Given the description of an element on the screen output the (x, y) to click on. 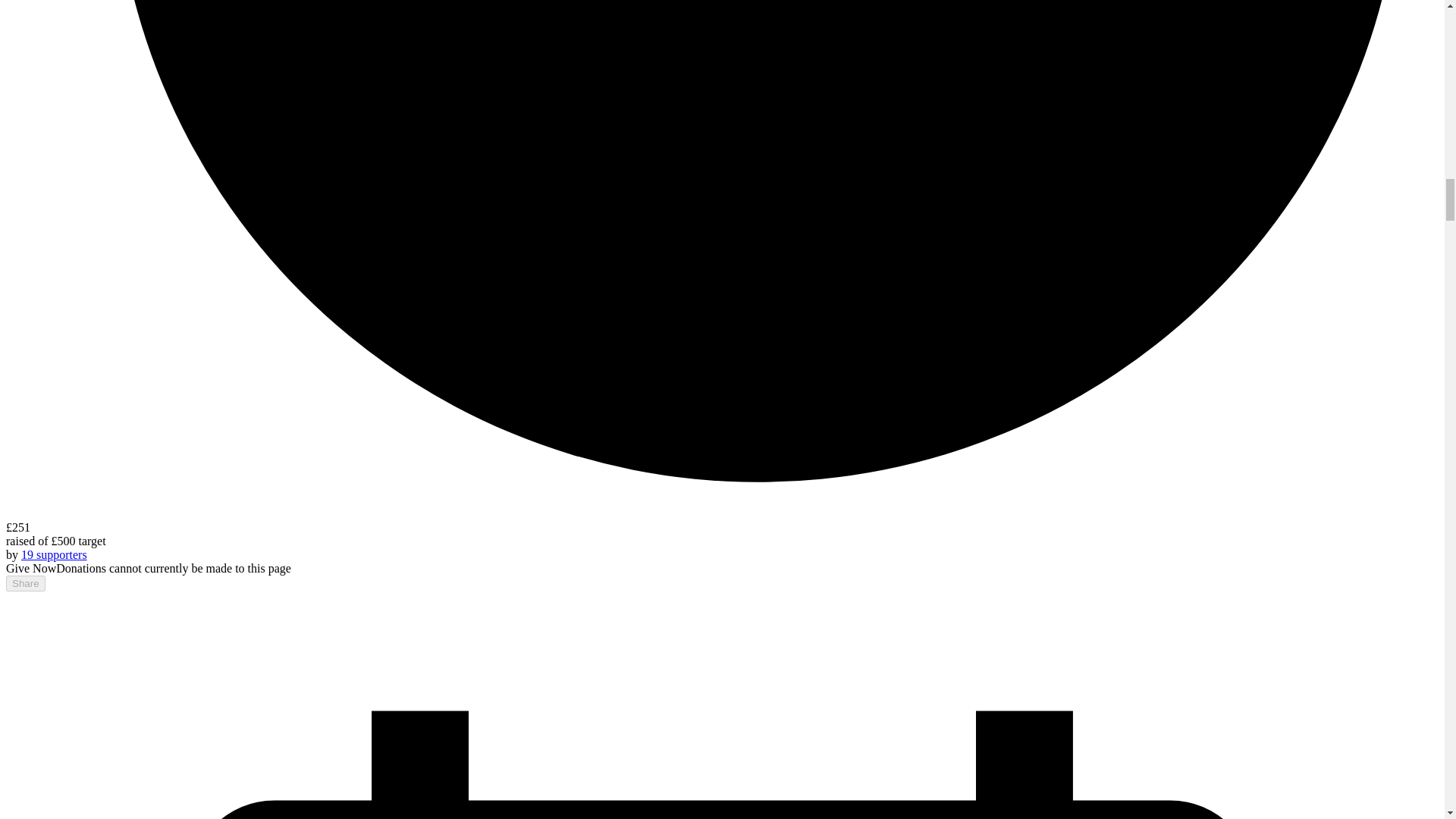
19 supporters (54, 554)
Share (25, 583)
